Given the description of an element on the screen output the (x, y) to click on. 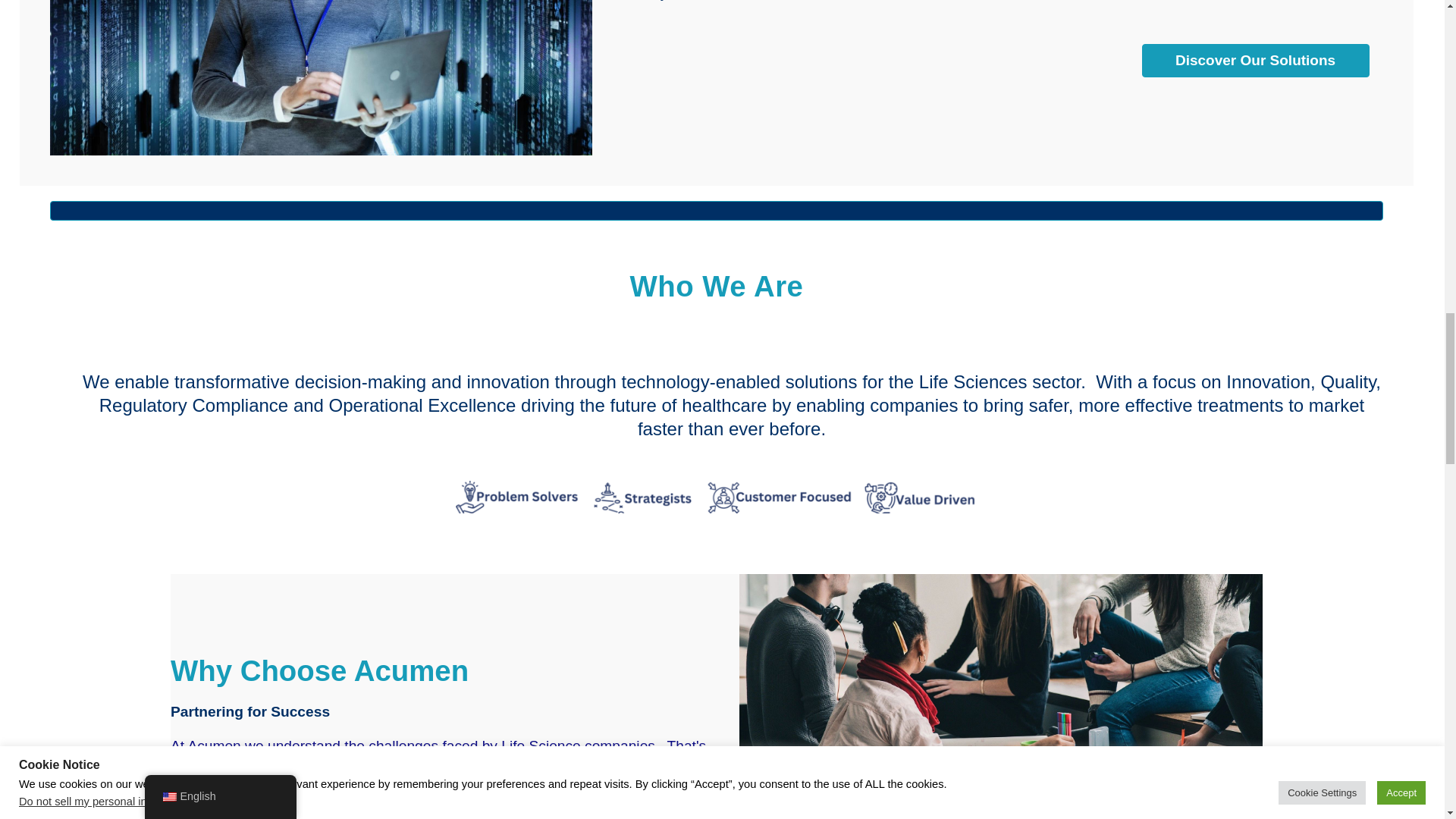
Copy of Your paragraph text (715, 496)
qtq80-84IvQ2 (320, 78)
qtq80-m1GpH7 (1000, 696)
Discover Our Solutions (1255, 60)
